Given the description of an element on the screen output the (x, y) to click on. 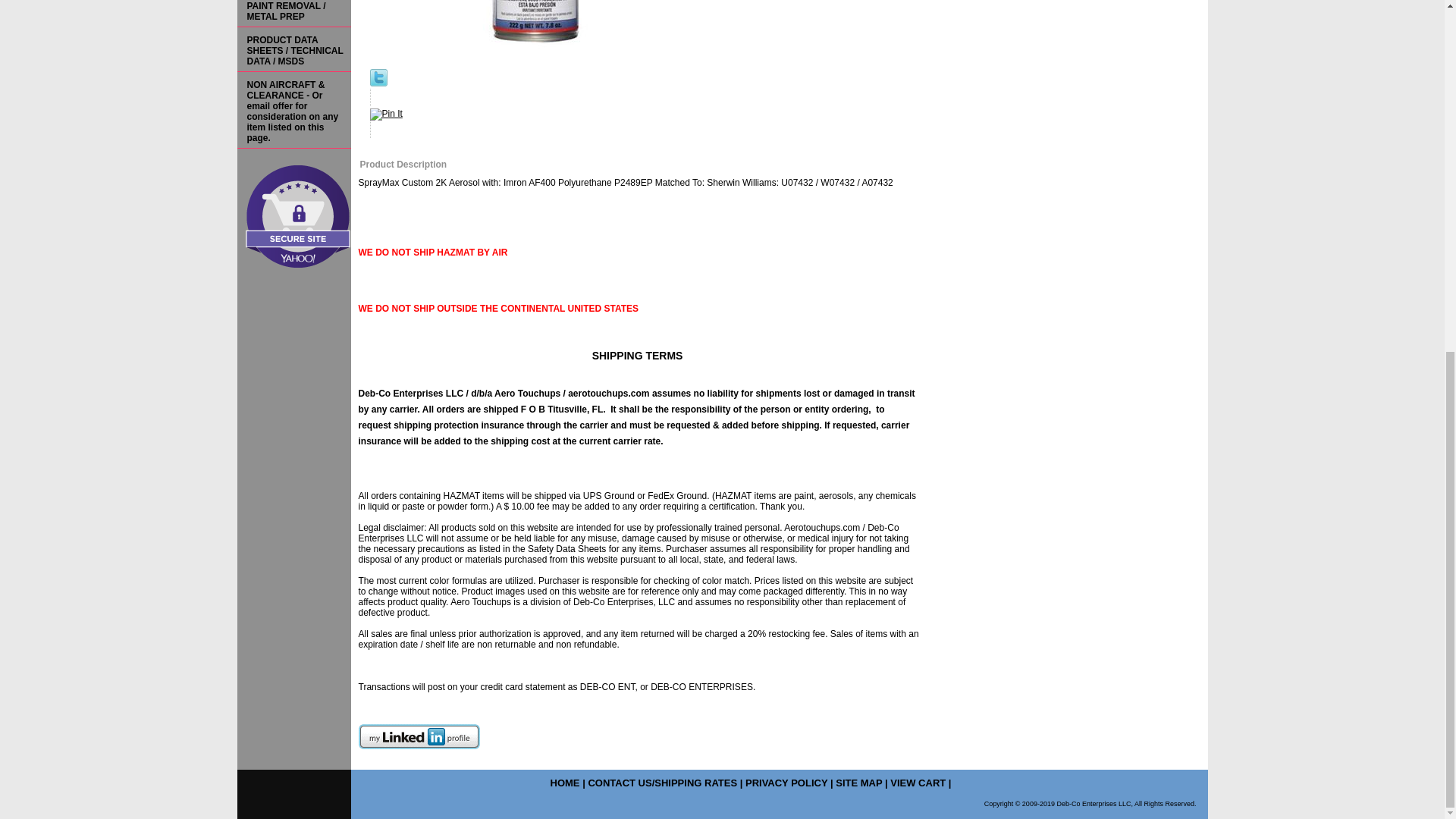
P2489-2KA   Flight Red Imron AF400 SprayMax 2K Aerosol (532, 30)
HOME (564, 782)
Tweet (378, 82)
PRIVACY POLICY (786, 782)
Pin It (386, 114)
VIEW CART (916, 782)
SITE MAP (858, 782)
